Given the description of an element on the screen output the (x, y) to click on. 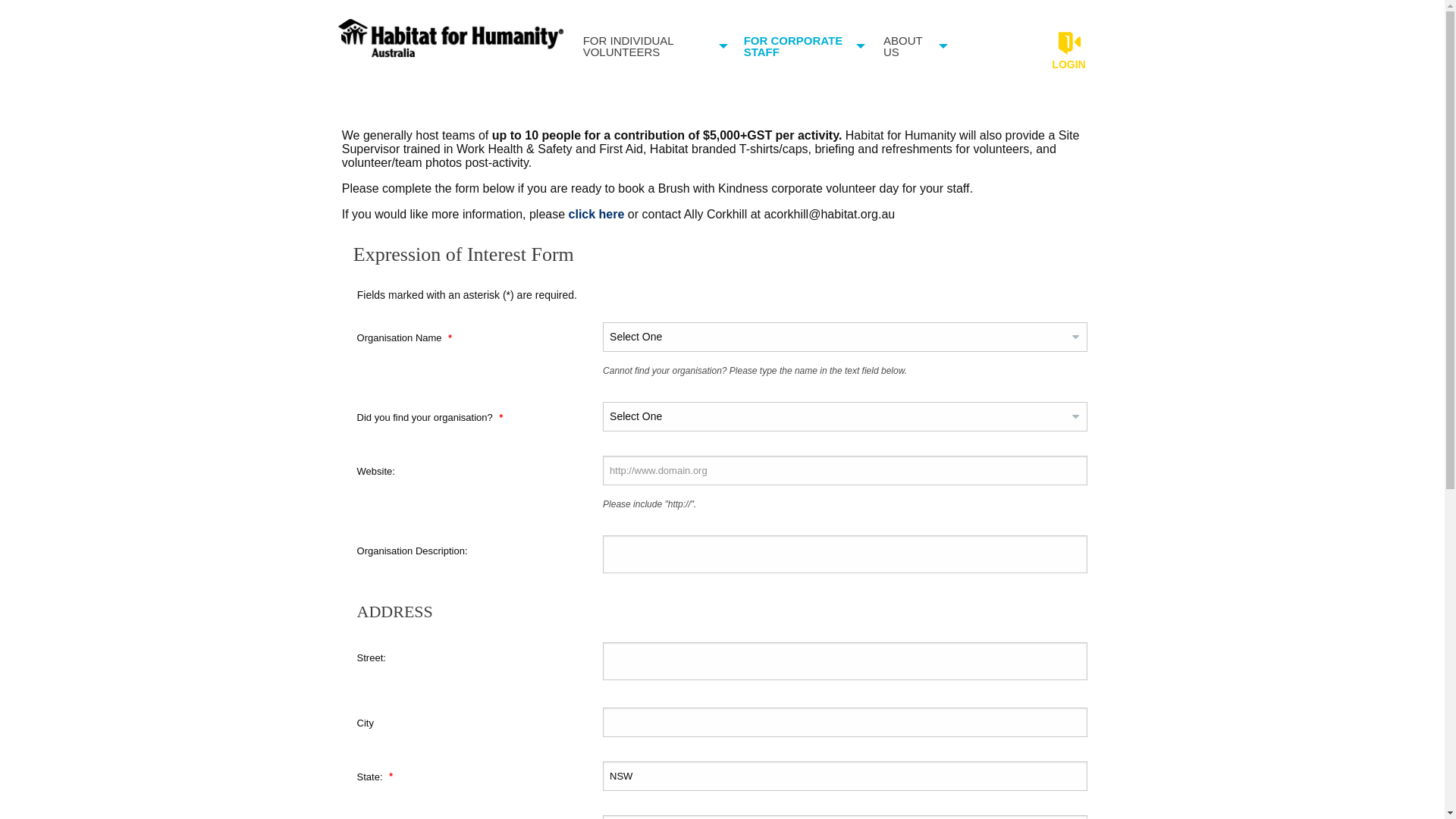
FOR INDIVIDUAL VOLUNTEERS Element type: text (651, 47)
FOR CORPORATE STAFF Element type: text (801, 47)
ABOUT US Element type: text (911, 47)
click here Element type: text (596, 213)
LOGIN Element type: text (1069, 53)
